Given the description of an element on the screen output the (x, y) to click on. 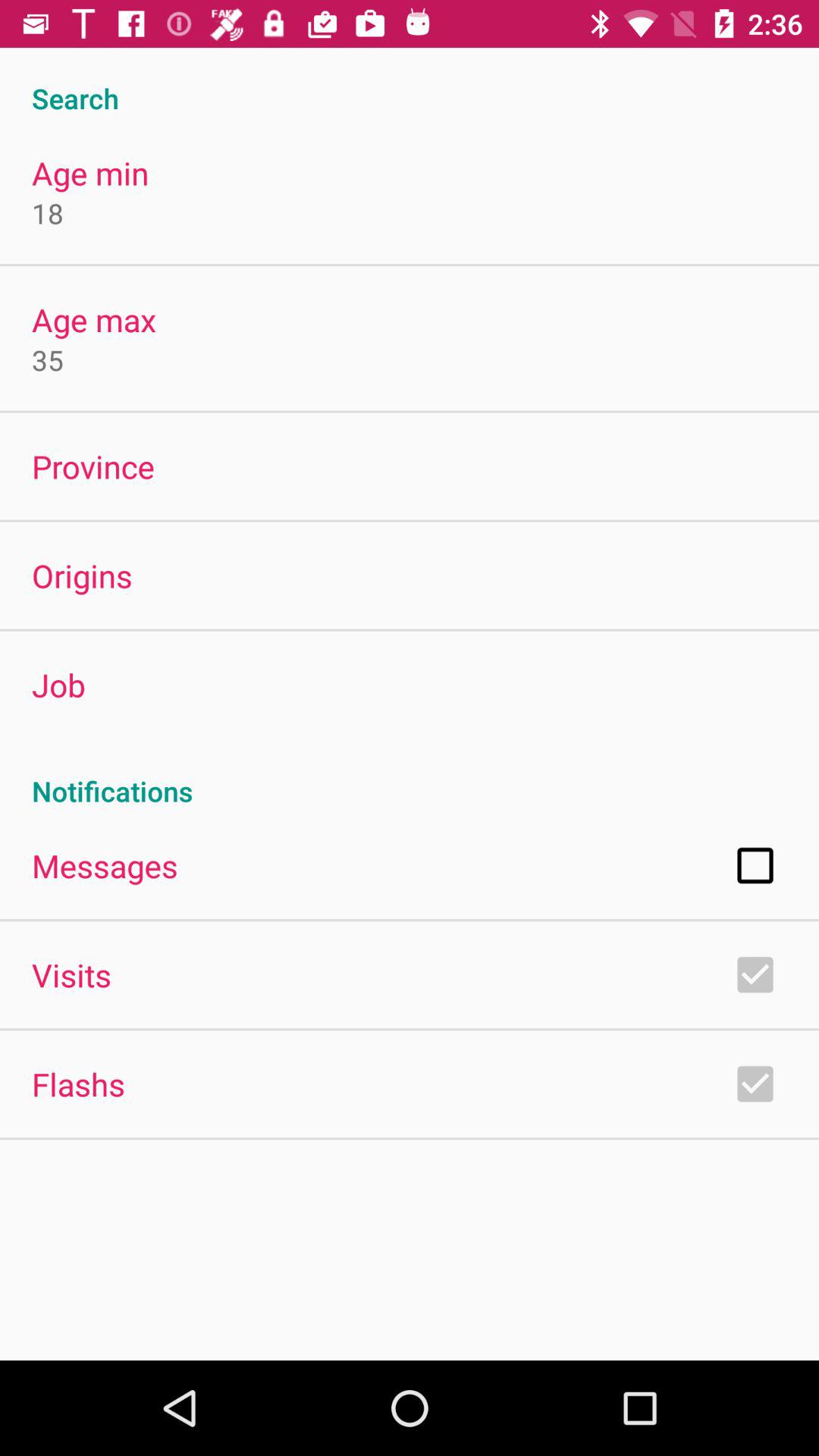
tap flashs app (78, 1083)
